Given the description of an element on the screen output the (x, y) to click on. 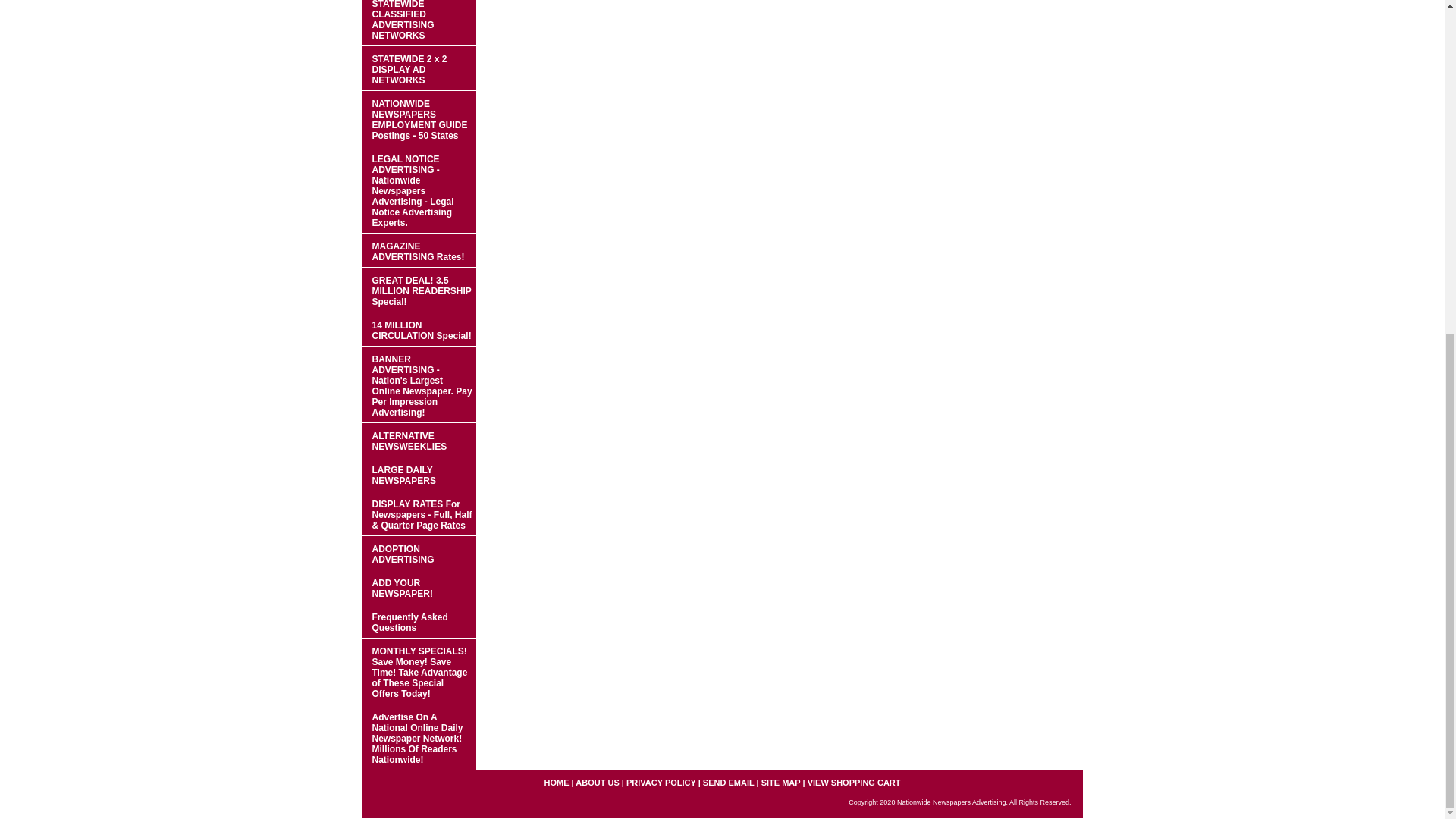
ALTERNATIVE NEWSWEEKLIES (419, 440)
GREAT DEAL! 3.5 MILLION READERSHIP Special! (419, 289)
ADOPTION ADVERTISING (419, 553)
GREAT DEAL!  3.5 MILLION READERSHIP Special! (419, 289)
MAGAZINE  ADVERTISING Rates! (419, 250)
ALTERNATIVE NEWSWEEKLIES (419, 440)
14 MILLION CIRCULATION Special! (419, 329)
MAGAZINE ADVERTISING Rates! (419, 250)
NATIONWIDE NEWSPAPERS EMPLOYMENT GUIDE Postings - 50 States (419, 118)
HOME (556, 782)
ADD YOUR NEWSPAPER! (419, 587)
PRIVACY POLICY (660, 782)
